Given the description of an element on the screen output the (x, y) to click on. 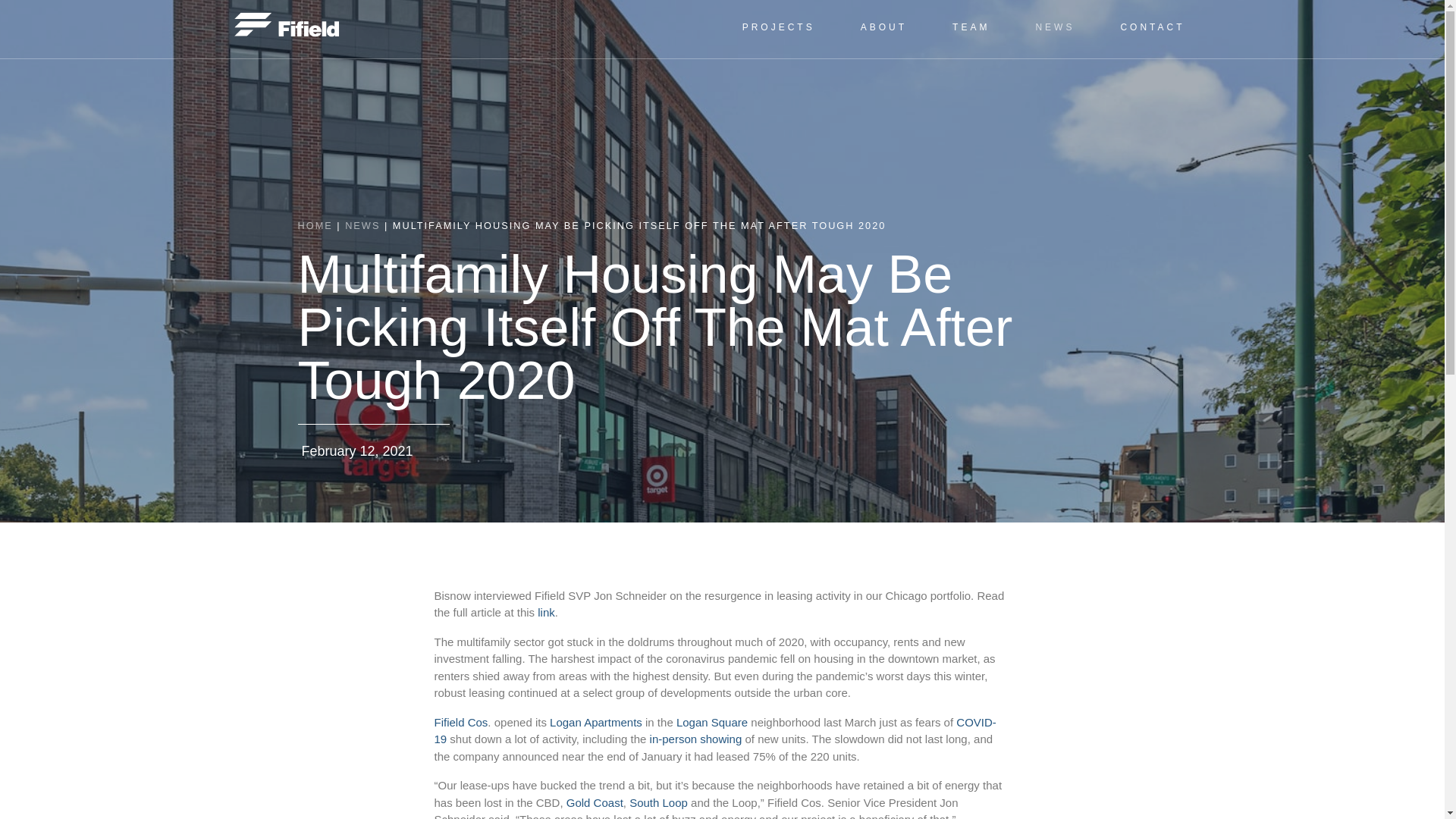
Logan Square (712, 721)
NEWS (1054, 27)
in-person showing (695, 738)
NEWS (362, 225)
CONTACT (1152, 27)
February 12, 2021 (354, 451)
South Loop (657, 802)
COVID-19 (714, 730)
ABOUT (883, 27)
Gold Coast (594, 802)
PROJECTS (777, 27)
link (545, 612)
Fifield Cos (460, 721)
TEAM (970, 27)
HOME (314, 225)
